Given the description of an element on the screen output the (x, y) to click on. 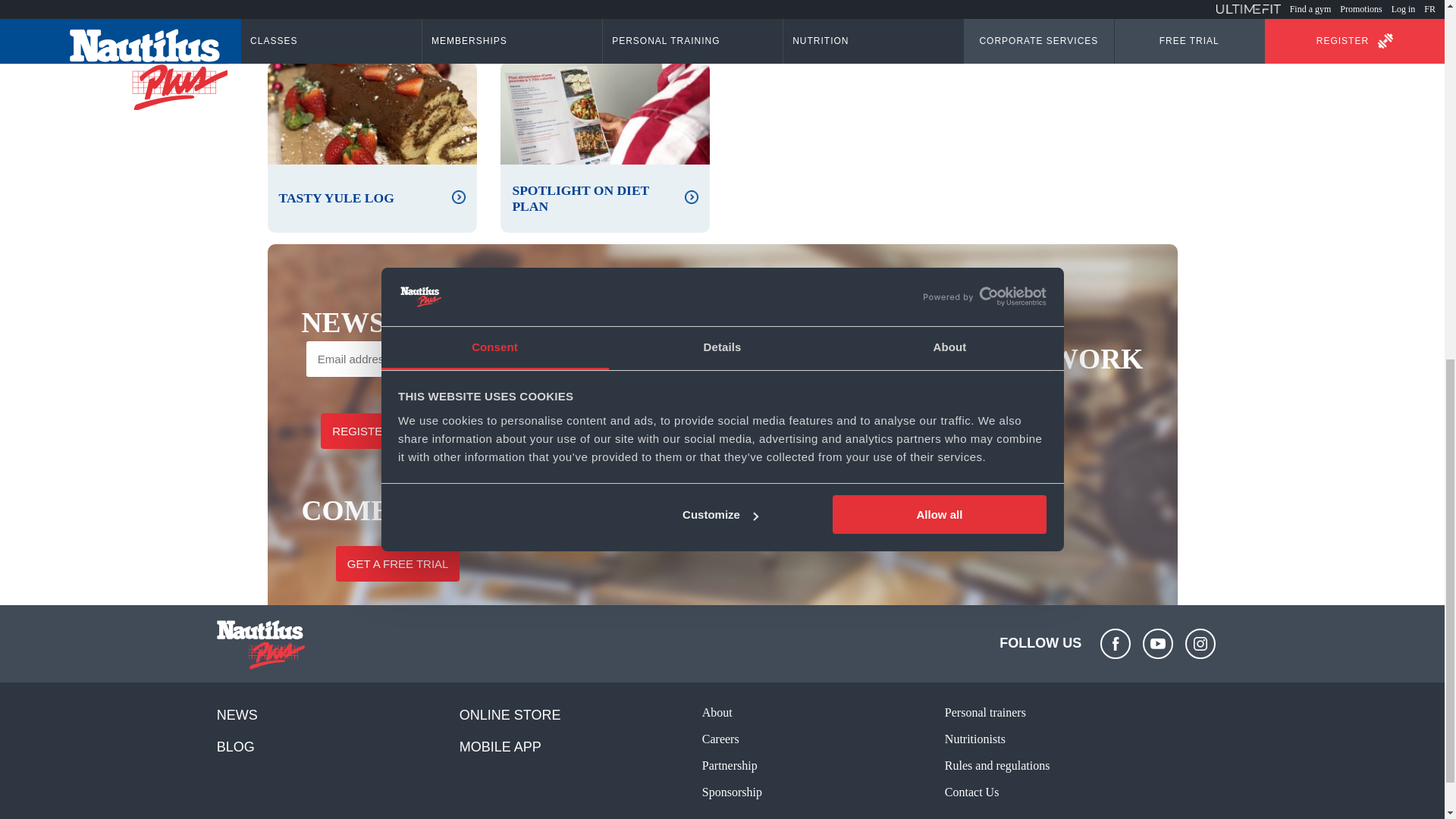
REGISTER TO THE BLOG (400, 430)
